Given the description of an element on the screen output the (x, y) to click on. 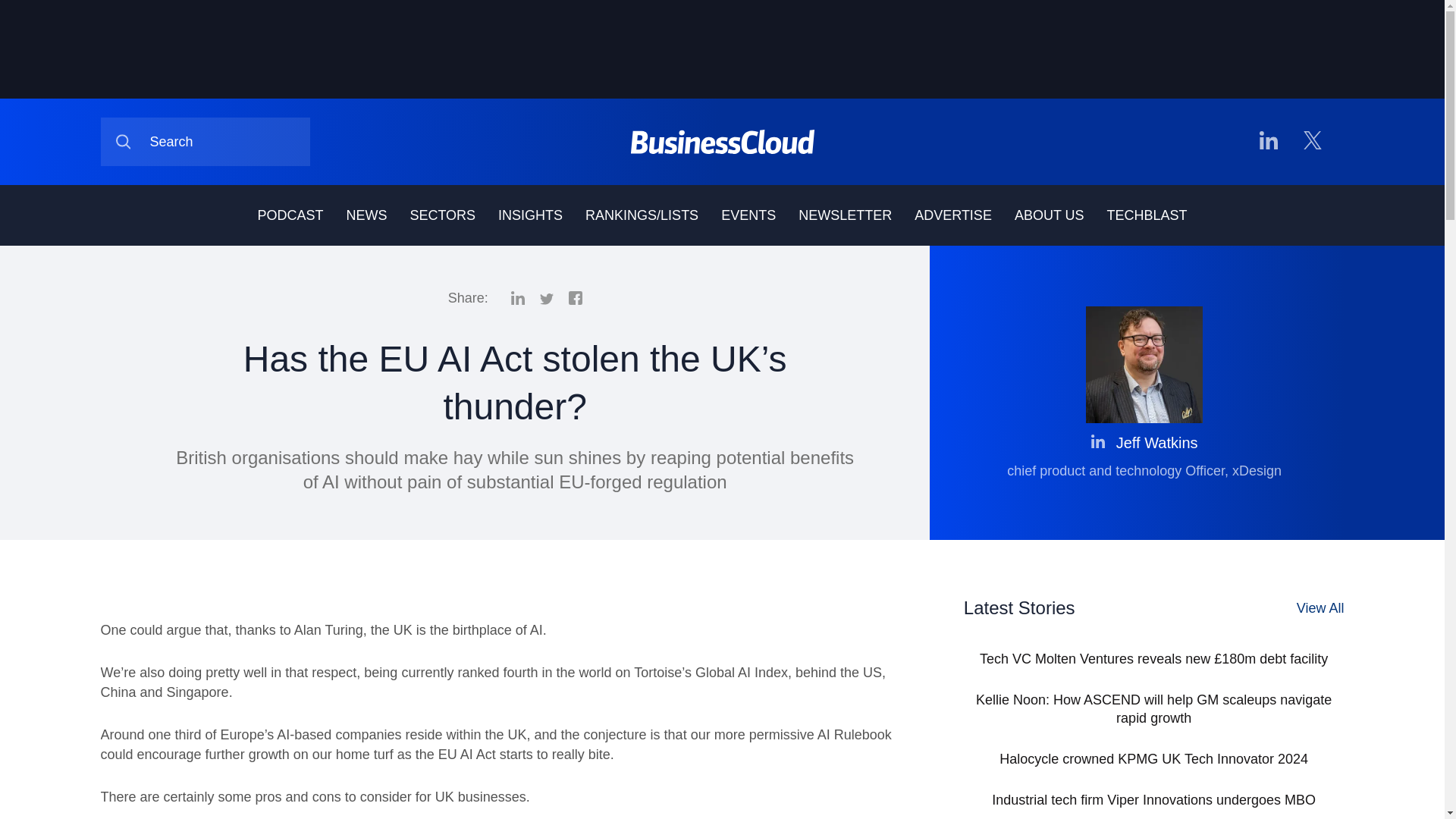
ABOUT US (1049, 215)
ADVERTISE (952, 215)
NEWS (366, 215)
INSIGHTS (529, 215)
PODCAST (290, 215)
TECHBLAST (1147, 215)
EVENTS (748, 215)
Search for: (204, 141)
NEWSLETTER (844, 215)
SECTORS (442, 215)
